Given the description of an element on the screen output the (x, y) to click on. 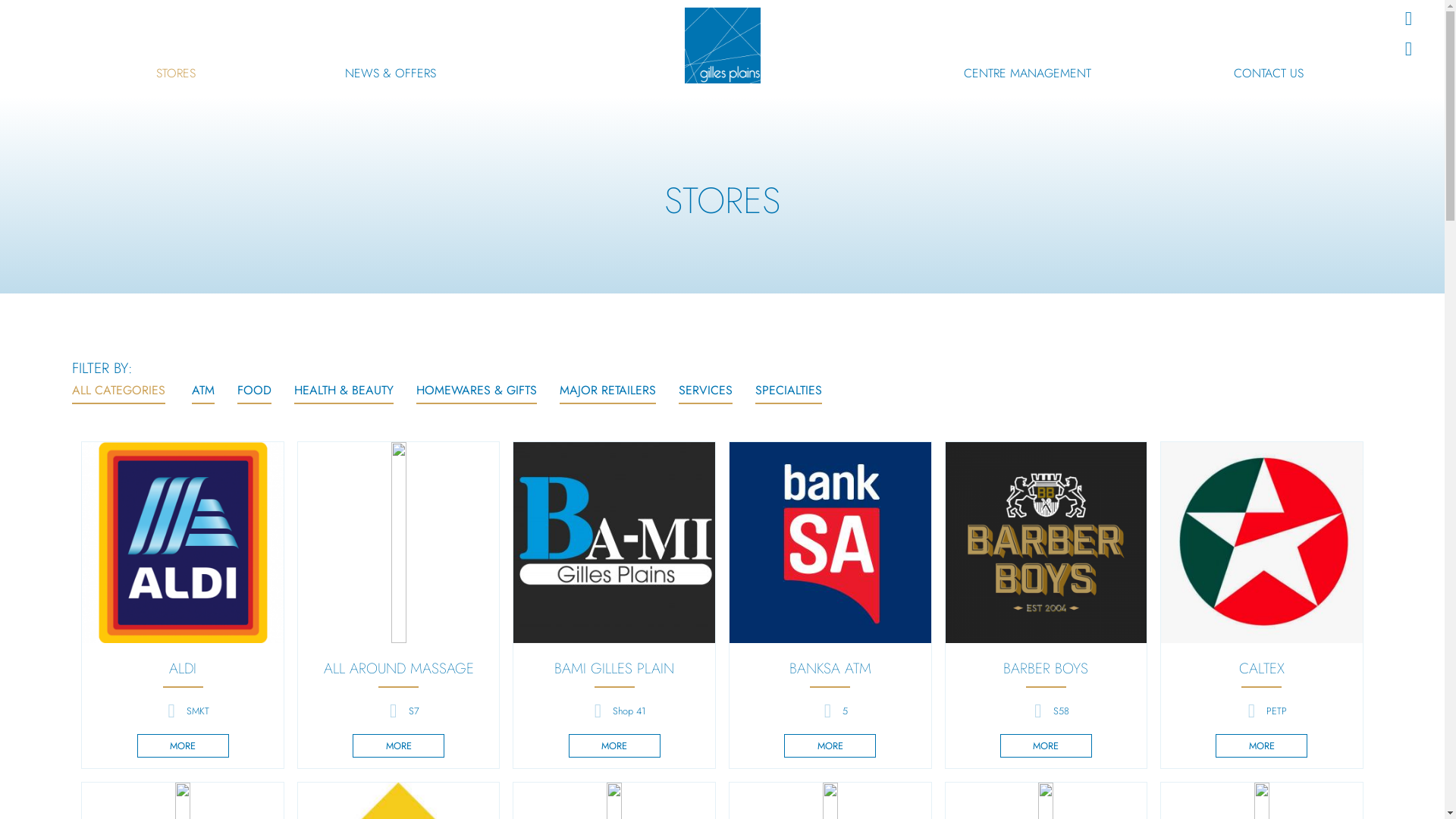
MORE Element type: text (183, 745)
NEWS & OFFERS Element type: text (390, 73)
CONTACT US Element type: text (1268, 73)
MORE Element type: text (398, 745)
More Element type: text (1261, 542)
MORE Element type: text (1046, 745)
MORE Element type: text (1261, 745)
MORE Element type: text (829, 745)
STORES Element type: text (175, 73)
Home Element type: text (721, 45)
Facebook Element type: text (1408, 18)
More Element type: text (613, 542)
Google Map Element type: text (1408, 49)
More Element type: text (1045, 542)
More Element type: text (398, 542)
More Element type: text (181, 542)
CENTRE MANAGEMENT Element type: text (1027, 73)
More Element type: text (829, 542)
MORE Element type: text (614, 745)
